Given the description of an element on the screen output the (x, y) to click on. 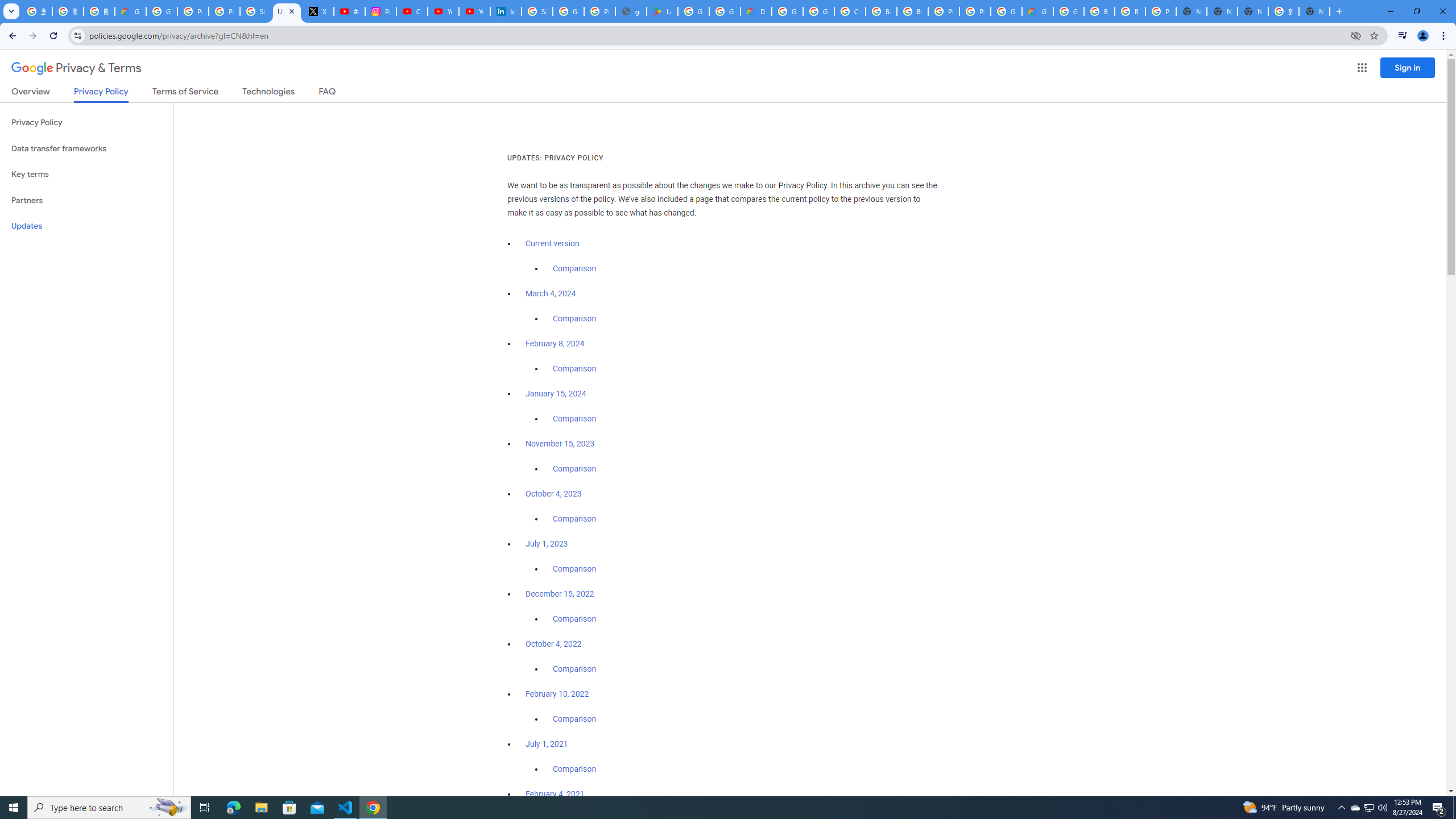
YouTube Culture & Trends - YouTube Top 10, 2021 (474, 11)
Google Cloud Privacy Notice (130, 11)
February 4, 2021 (555, 793)
